Given the description of an element on the screen output the (x, y) to click on. 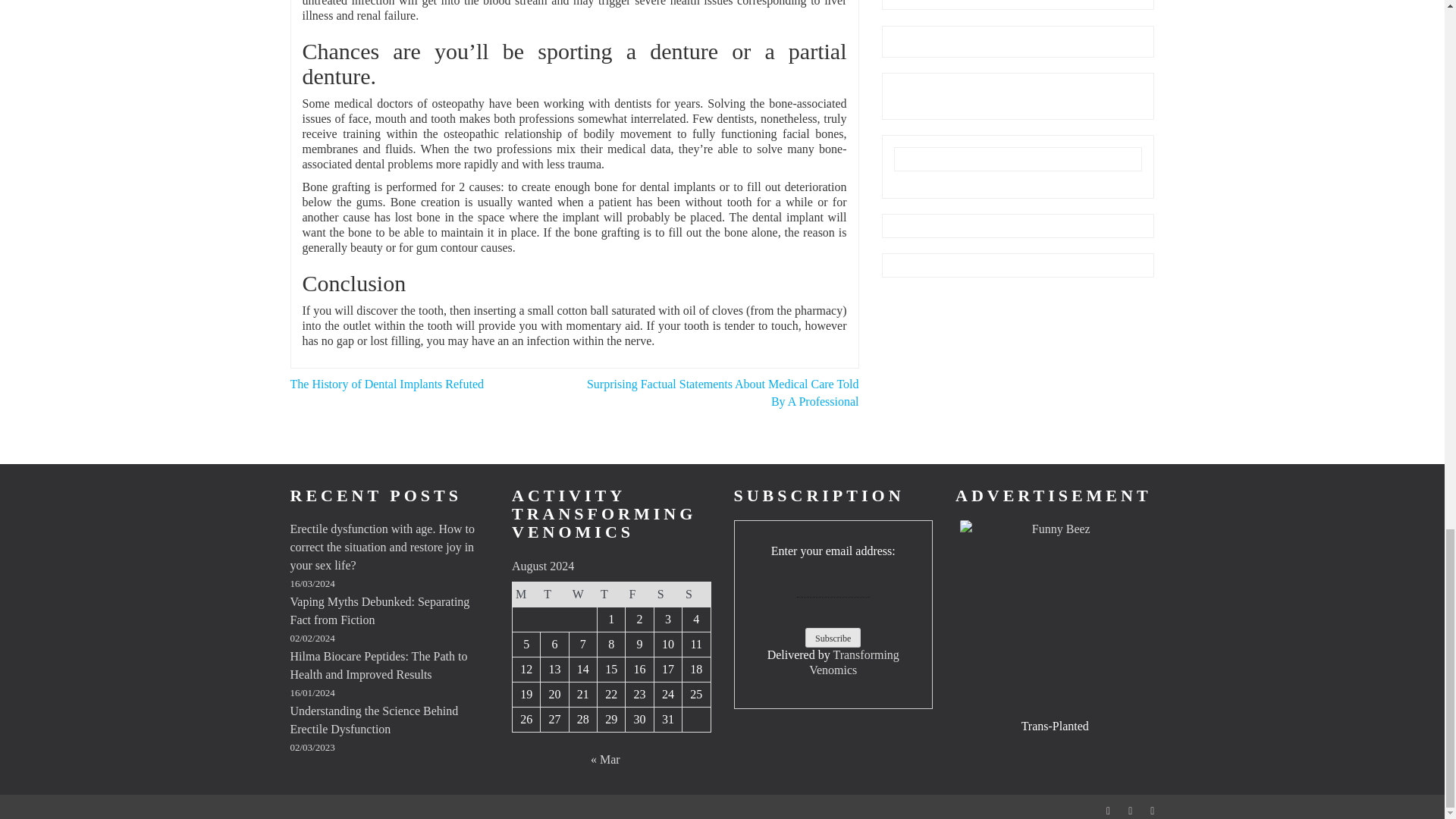
Sunday (696, 593)
Saturday (667, 593)
The History of Dental Implants Refuted (386, 383)
Subscribe (832, 637)
Monday (526, 593)
Thursday (611, 593)
Tuesday (554, 593)
Friday (639, 593)
Wednesday (582, 593)
